Given the description of an element on the screen output the (x, y) to click on. 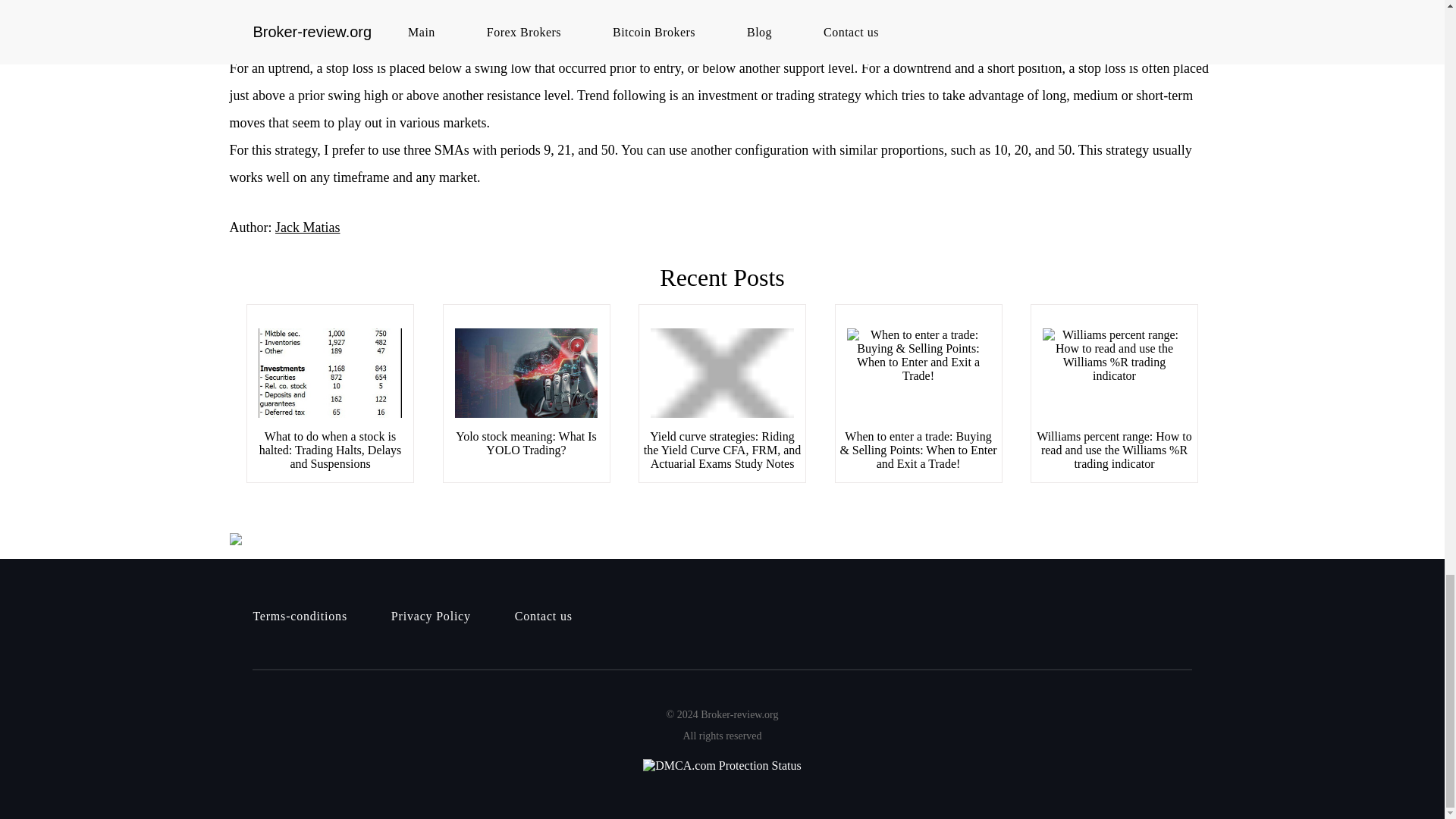
DMCA.com Protection Status (721, 765)
Jack Matias (307, 227)
Yolo stock meaning: What Is YOLO Trading? (525, 442)
Posts by Jack Matias (307, 227)
Content Protection by DMCA.com (721, 539)
